Given the description of an element on the screen output the (x, y) to click on. 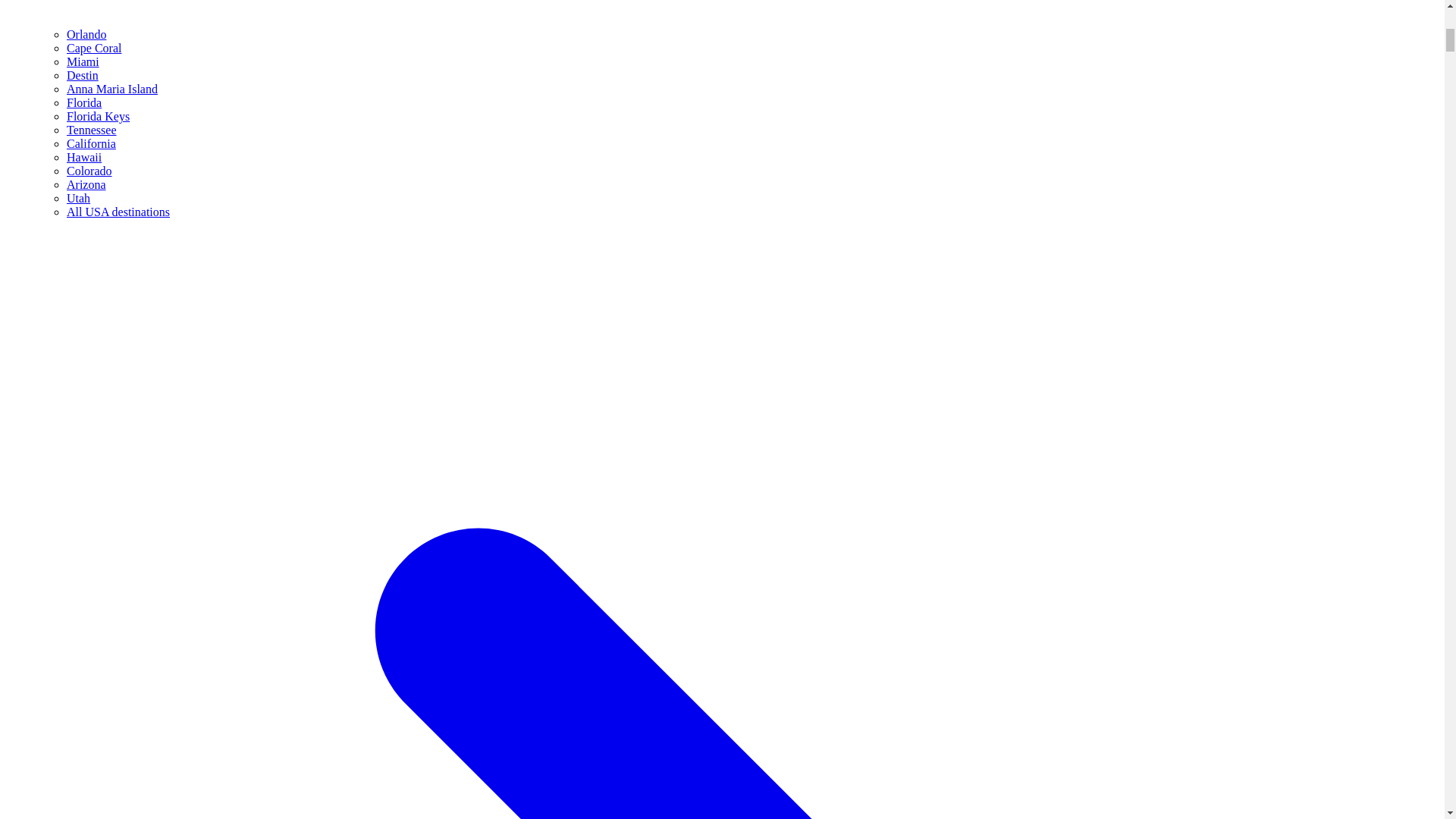
Orlando (86, 33)
Arizona (86, 184)
Florida (83, 102)
Miami (82, 61)
Florida Keys (97, 115)
Utah (78, 197)
Anna Maria Island (111, 88)
Cape Coral (93, 47)
Hawaii (83, 156)
Colorado (89, 170)
Destin (82, 74)
Tennessee (91, 129)
California (91, 143)
